Given the description of an element on the screen output the (x, y) to click on. 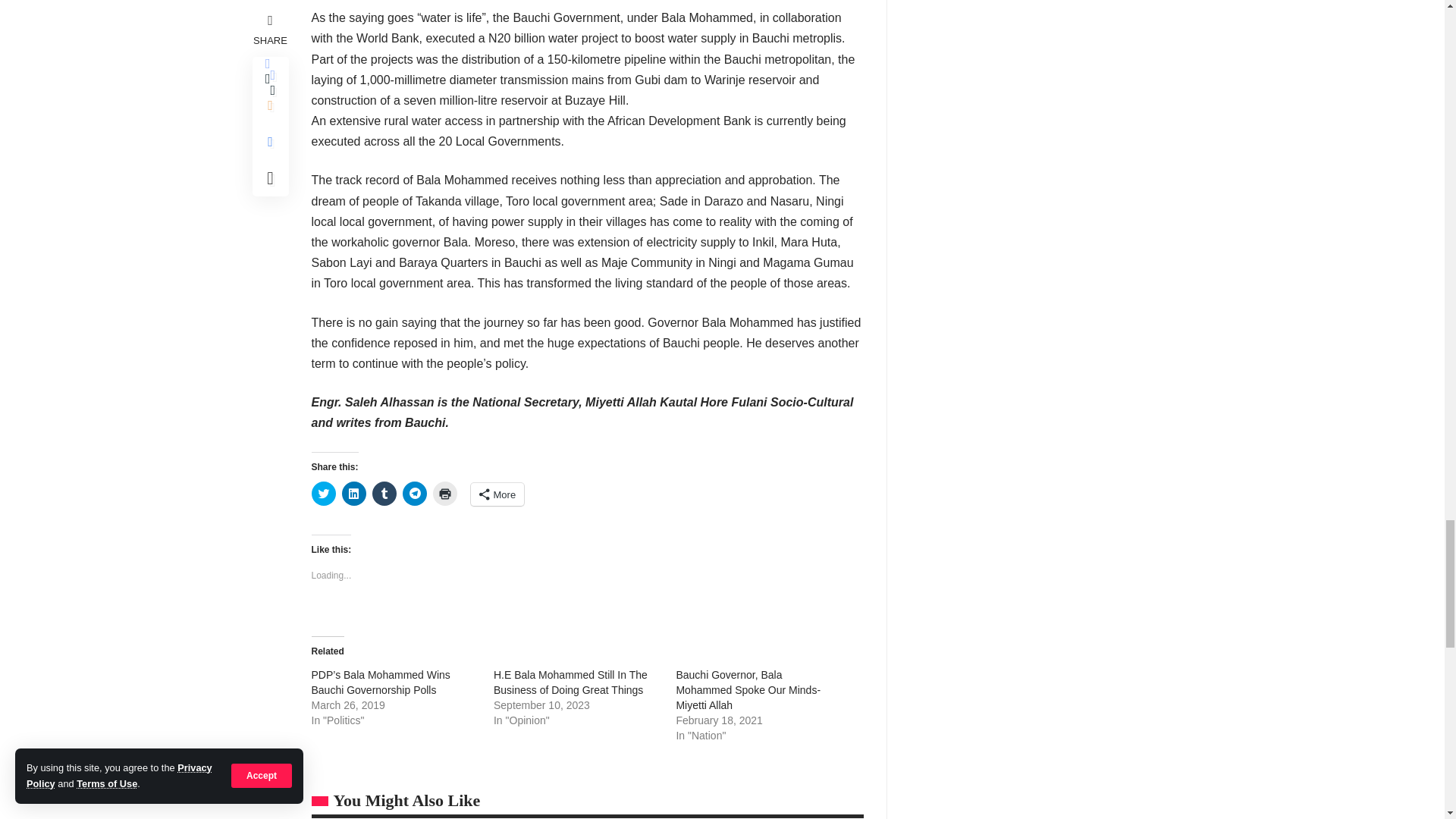
Click to share on Tumblr (383, 493)
Click to share on LinkedIn (352, 493)
Click to share on Twitter (322, 493)
